Given the description of an element on the screen output the (x, y) to click on. 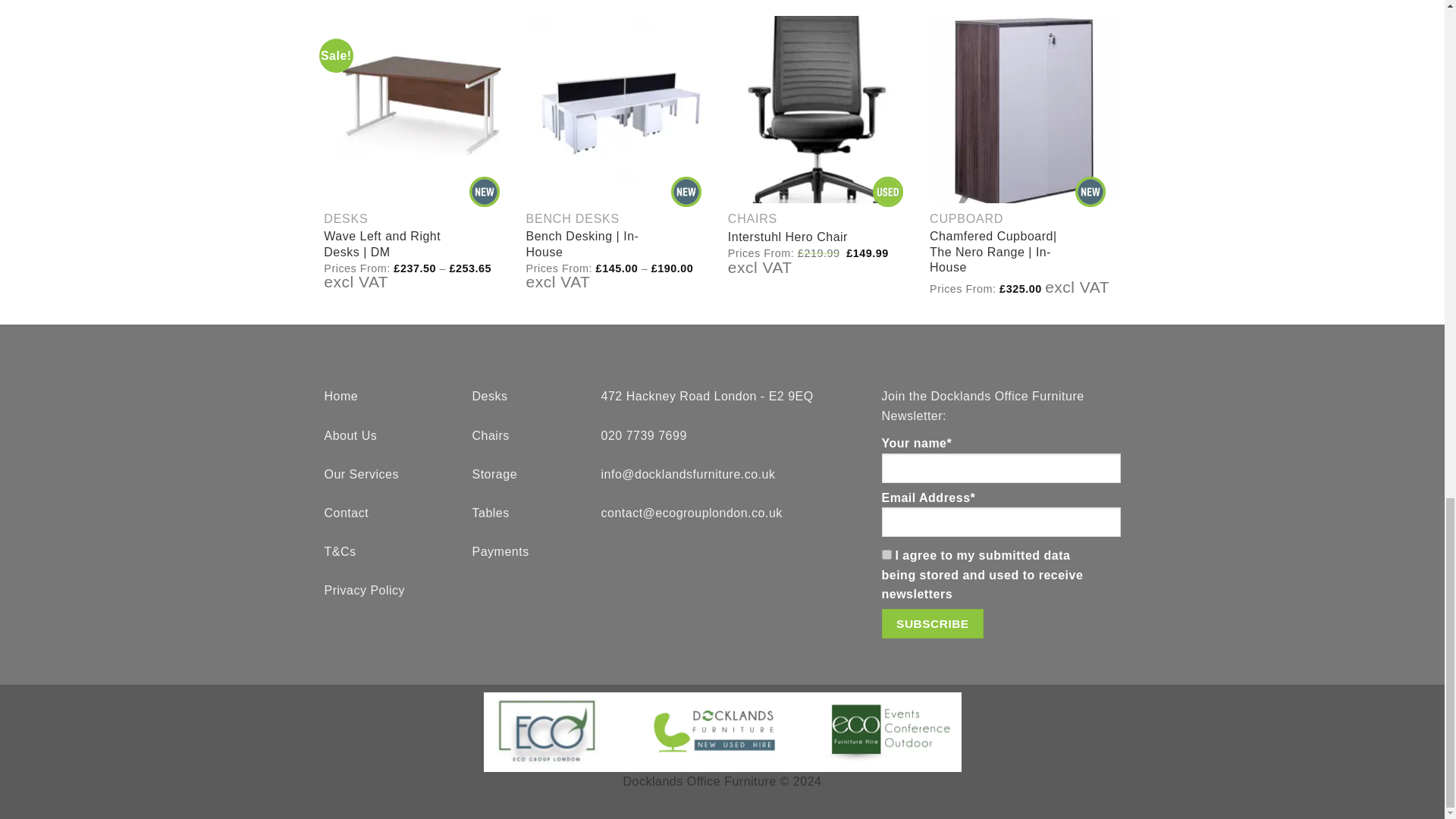
Subscribe (932, 623)
